Given the description of an element on the screen output the (x, y) to click on. 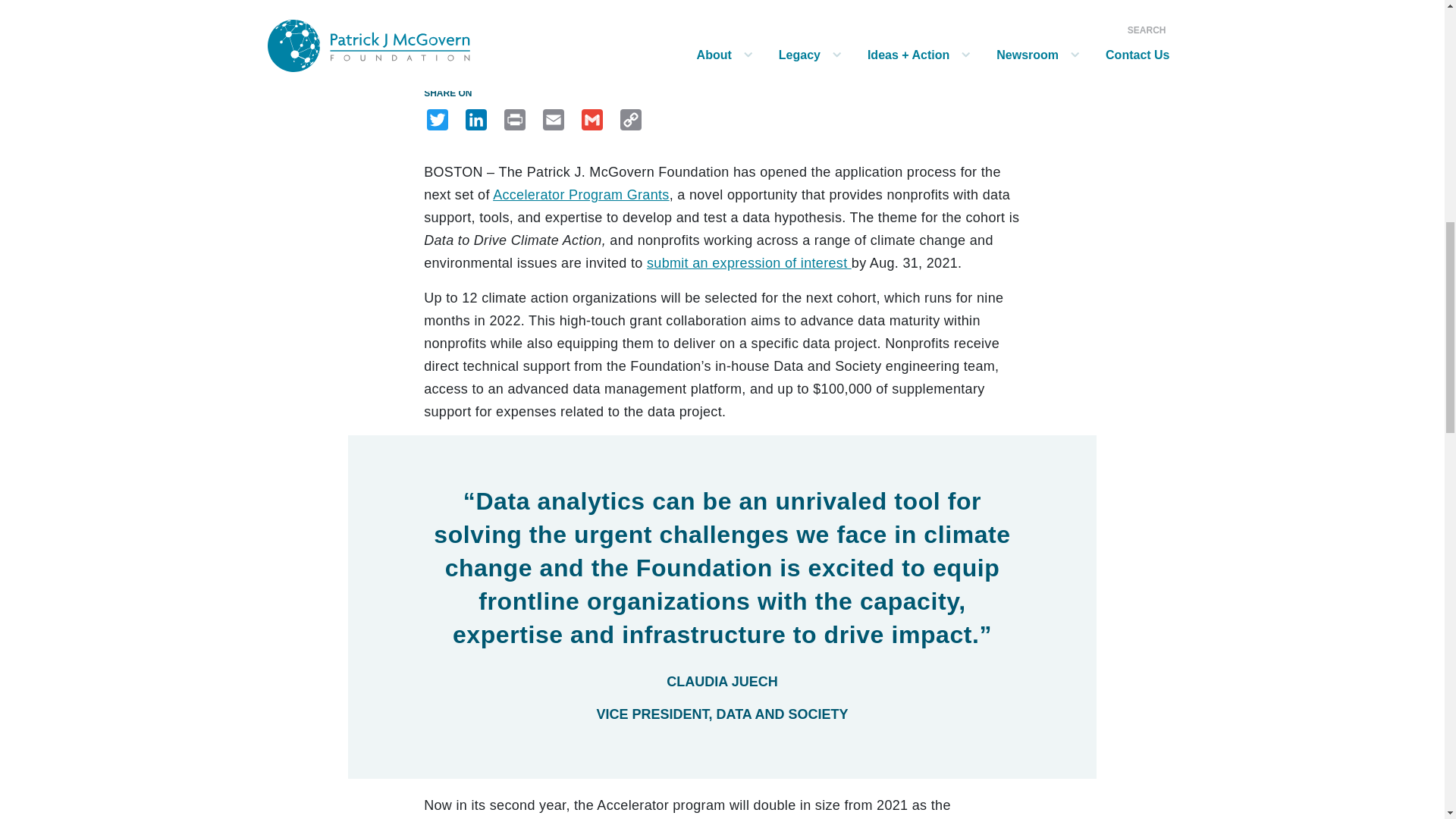
Copy Link (631, 119)
LinkedIn (476, 119)
Print (514, 119)
Gmail (591, 119)
Twitter (437, 119)
Email (553, 119)
